Given the description of an element on the screen output the (x, y) to click on. 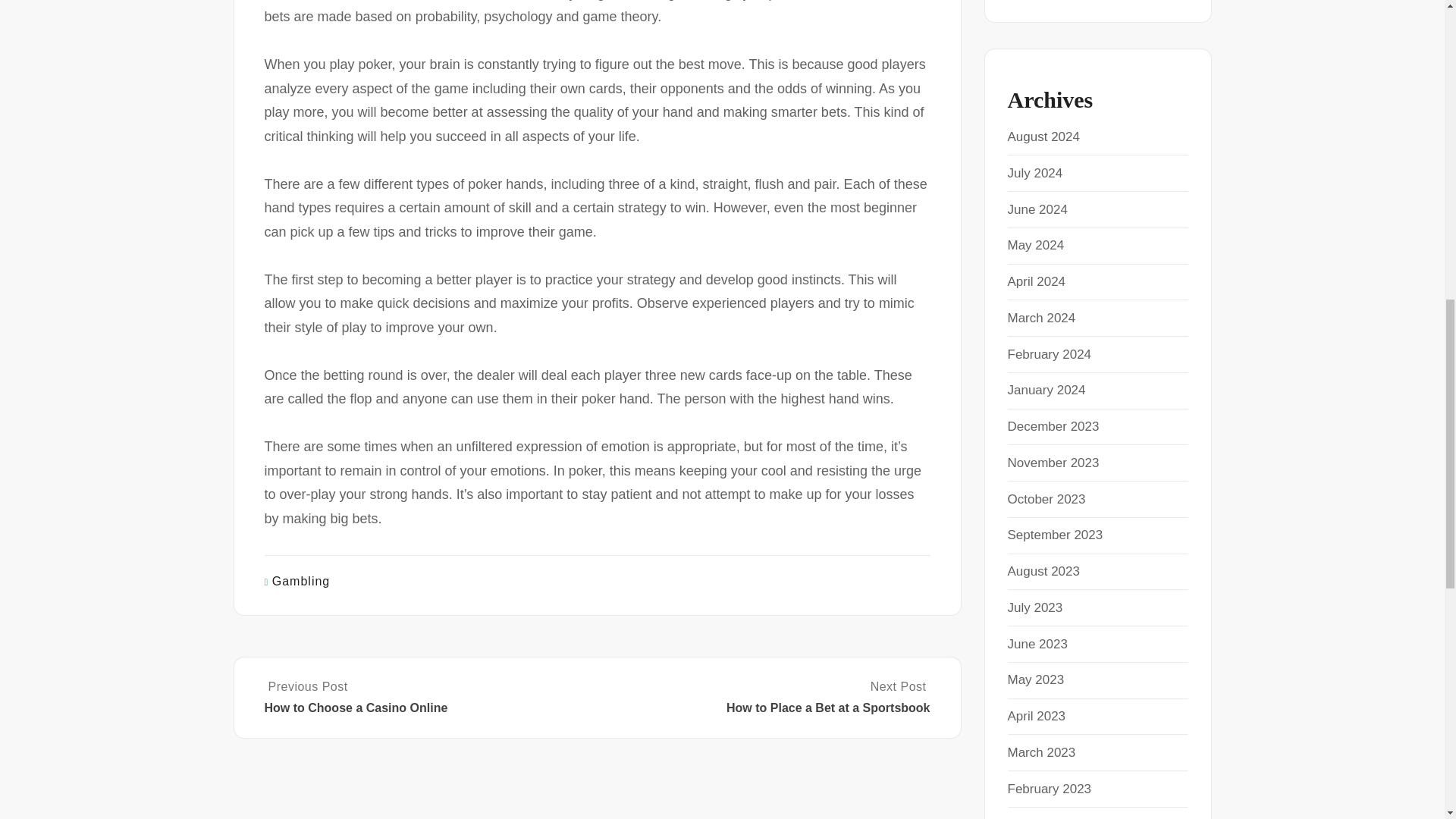
January 2023 (1045, 818)
February 2024 (1048, 354)
August 2023 (1042, 571)
March 2023 (1041, 752)
December 2023 (1053, 426)
April 2023 (1036, 716)
September 2023 (1054, 534)
April 2024 (1036, 281)
May 2024 (1035, 245)
